Given the description of an element on the screen output the (x, y) to click on. 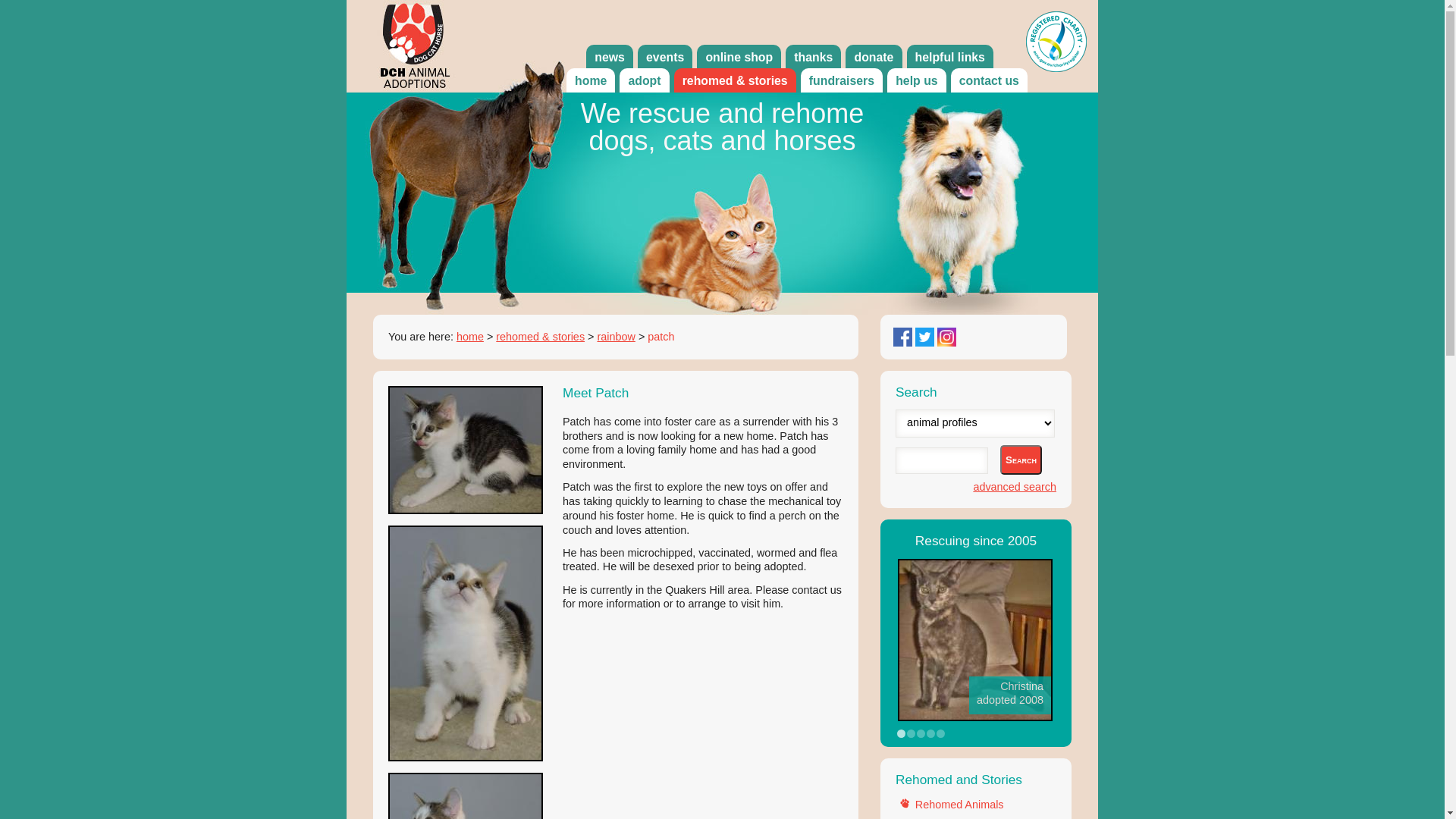
help us Element type: text (916, 81)
Rehomed Animals Element type: text (959, 804)
adopt Element type: text (643, 81)
online shop Element type: text (738, 57)
donate Element type: text (873, 57)
fundraisers Element type: text (841, 81)
Search Element type: text (1020, 459)
advanced search Element type: text (1014, 486)
rainbow Element type: text (615, 336)
4077-Patch-picture1 Element type: hover (465, 643)
4077-Patch-picture0 Element type: hover (465, 449)
events Element type: text (664, 57)
Share your success story Element type: text (974, 696)
rehomed & stories Element type: text (539, 336)
home Element type: text (590, 81)
home Element type: text (469, 336)
news Element type: text (609, 57)
thanks Element type: text (812, 57)
rehomed & stories Element type: text (735, 81)
helpful links Element type: text (950, 57)
contact us Element type: text (988, 81)
